Given the description of an element on the screen output the (x, y) to click on. 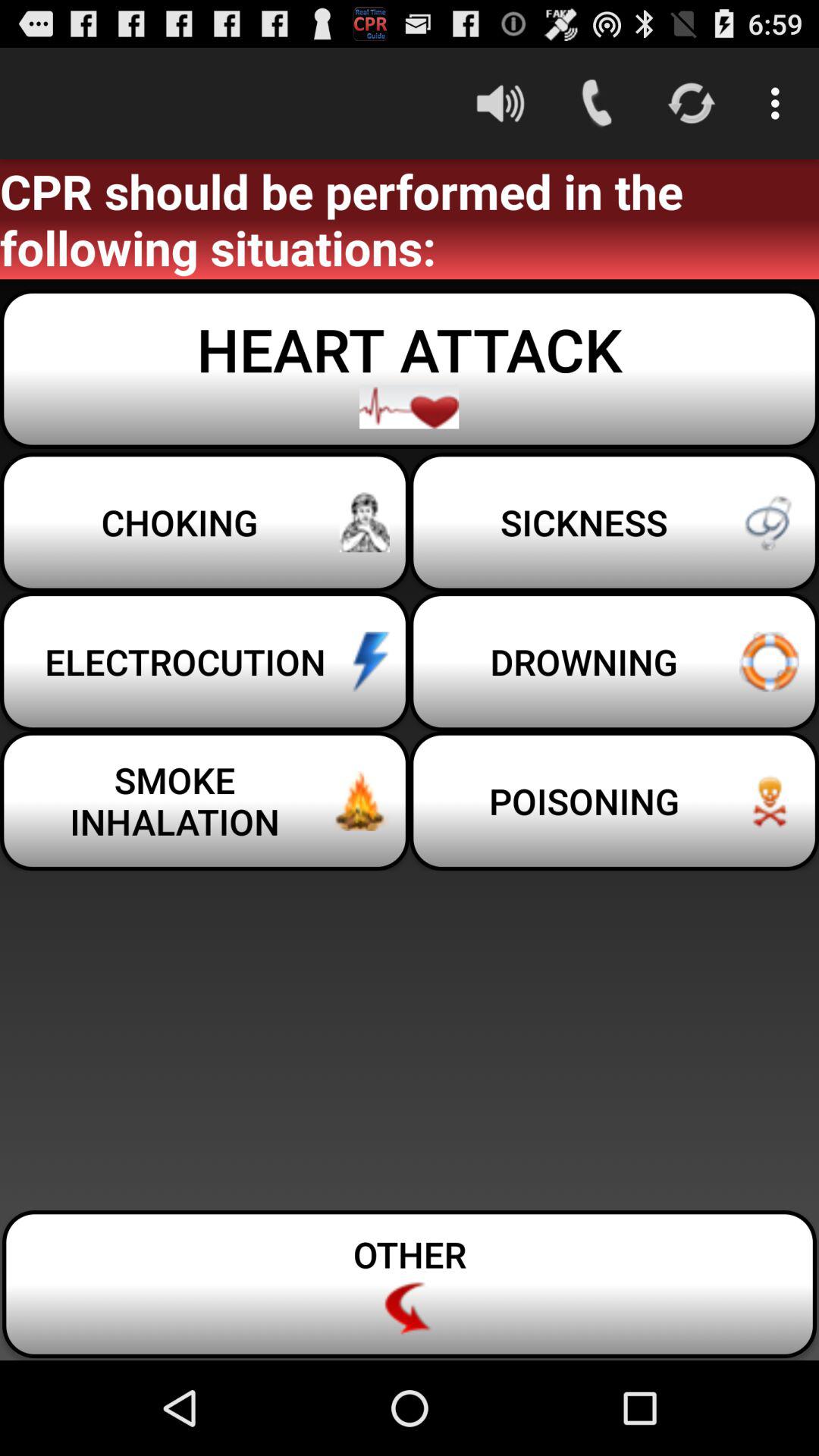
open the item above smoke inhalation (204, 661)
